Given the description of an element on the screen output the (x, y) to click on. 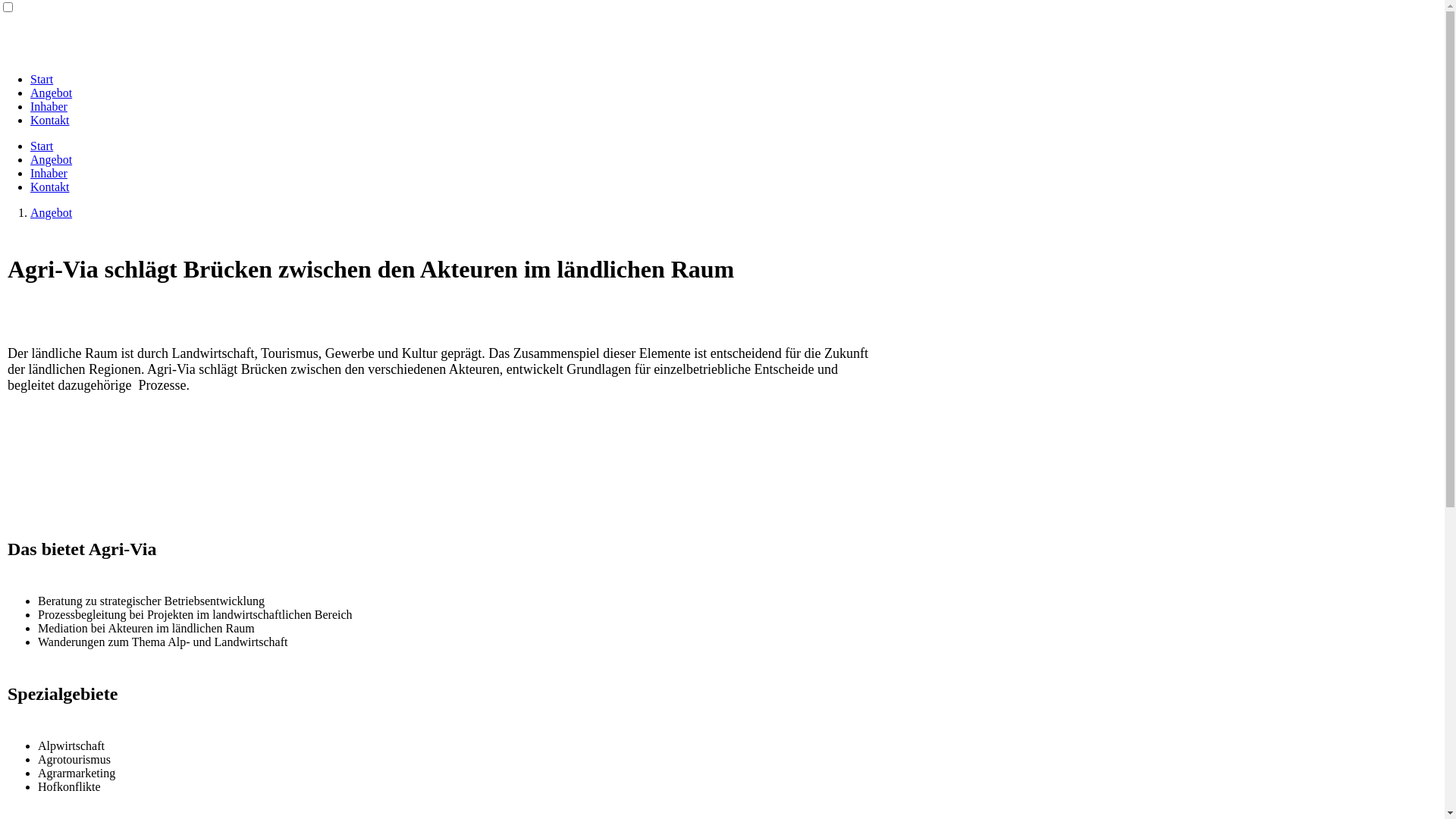
Angebot Element type: text (51, 92)
Kontakt Element type: text (49, 186)
Start Element type: text (41, 78)
Inhaber Element type: text (48, 172)
Angebot Element type: text (51, 212)
Kontakt Element type: text (49, 119)
Angebot Element type: text (51, 159)
Start Element type: text (41, 145)
Inhaber Element type: text (48, 106)
